Given the description of an element on the screen output the (x, y) to click on. 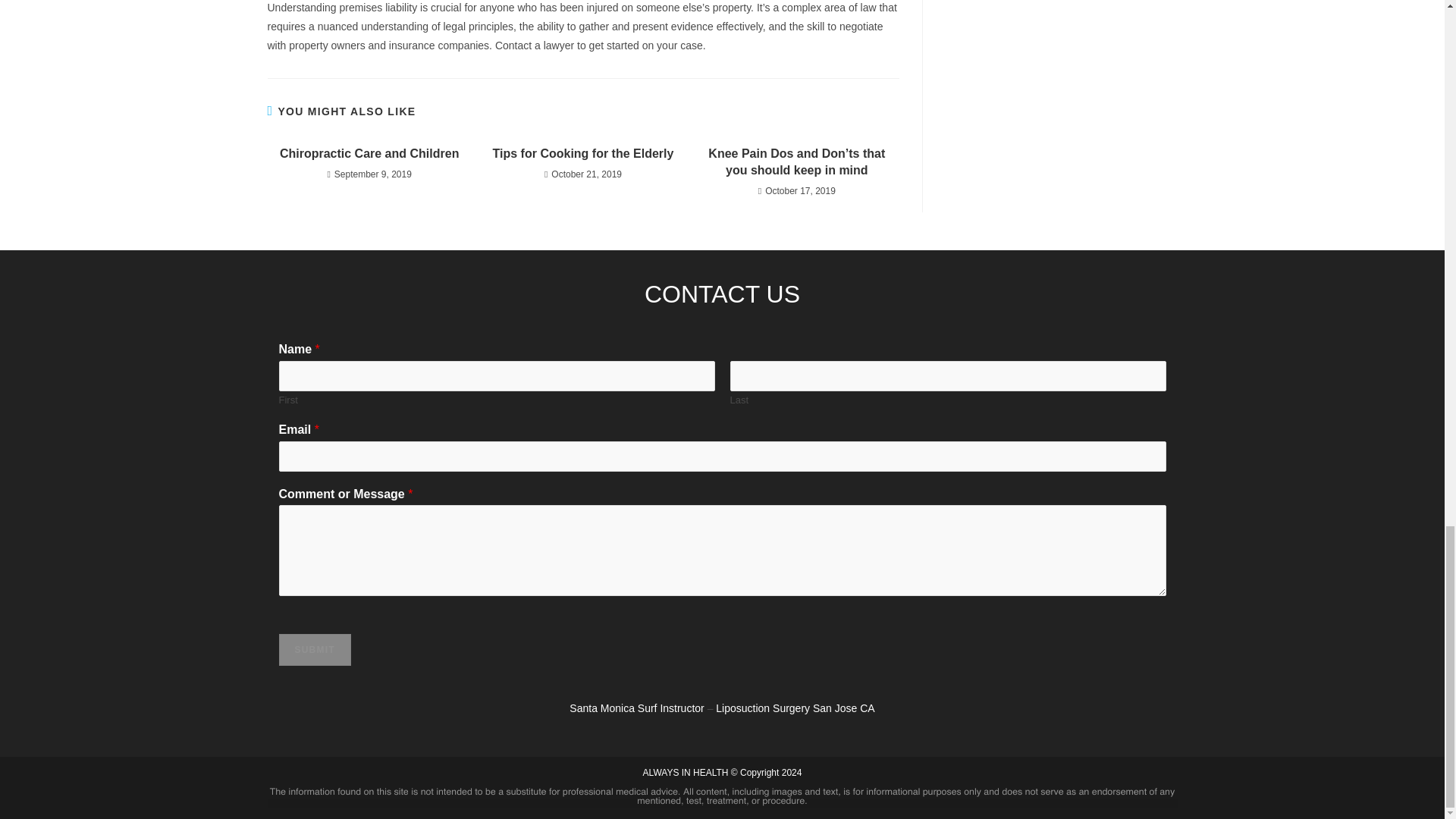
Tips for Cooking for the Elderly (582, 153)
Liposuction Surgery San Jose CA (795, 707)
Santa Monica Surf Instructor (636, 707)
SUBMIT (314, 649)
Chiropractic Care and Children (368, 153)
